Given the description of an element on the screen output the (x, y) to click on. 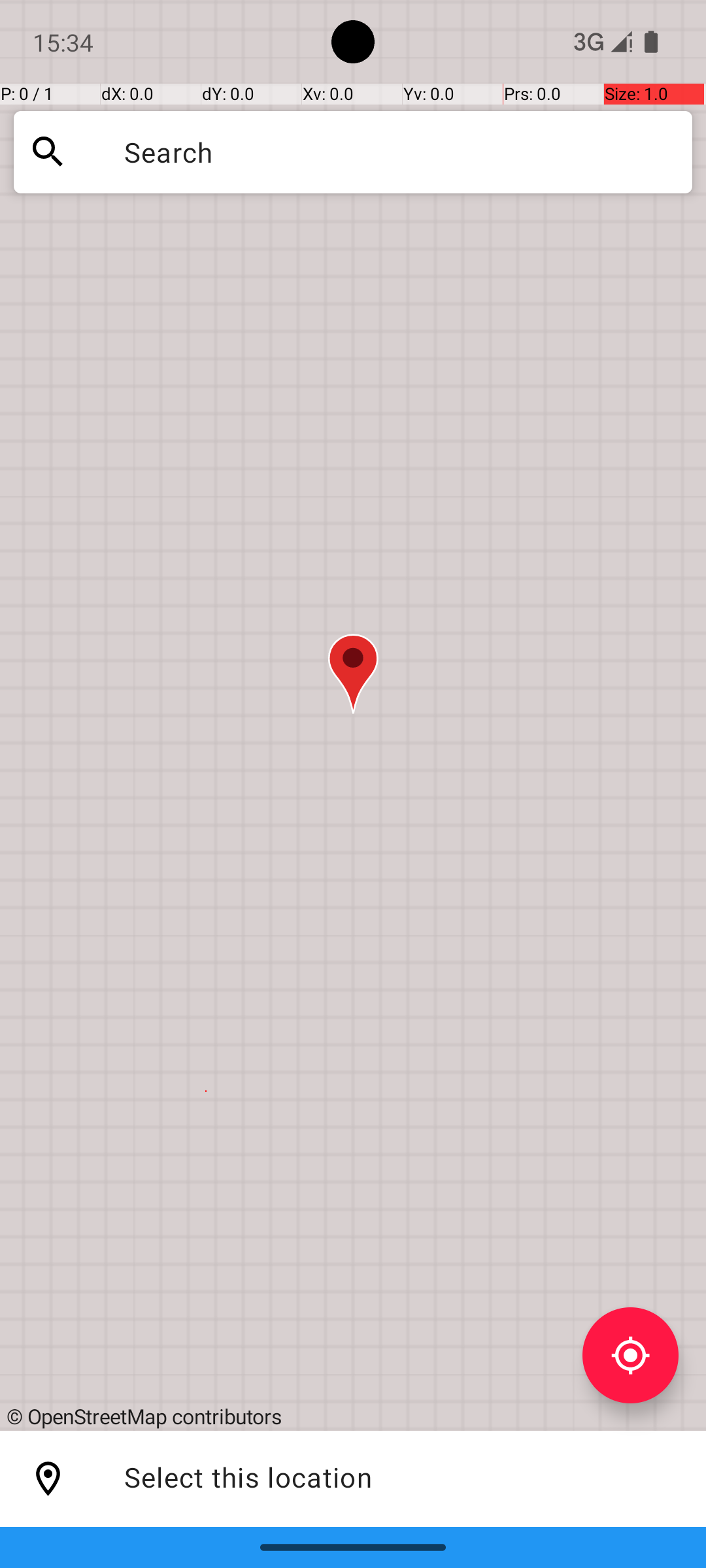
Select this location Element type: android.widget.ImageView (47, 1478)
